Given the description of an element on the screen output the (x, y) to click on. 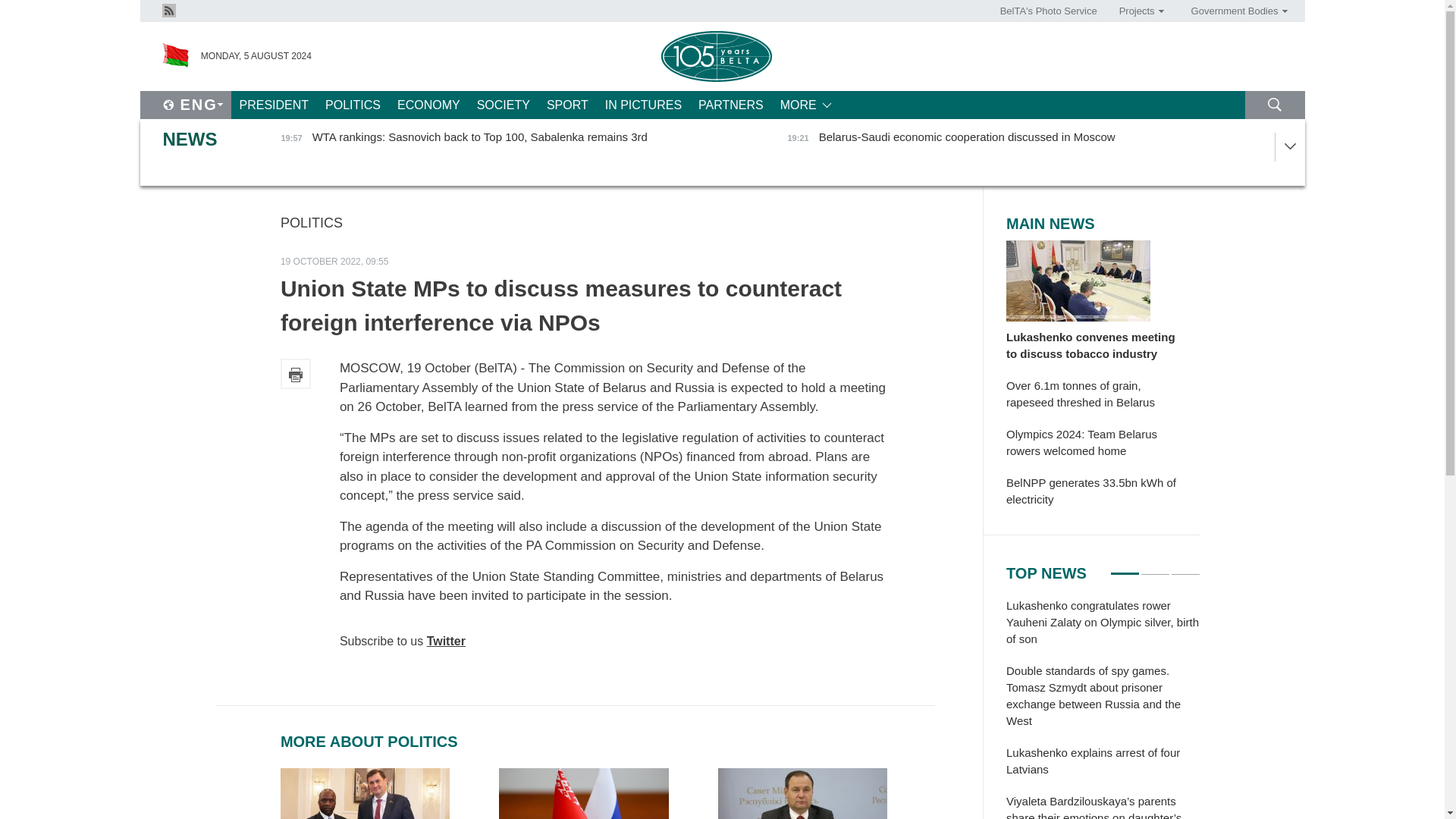
Rss (168, 10)
BelTA's Photo Service (1048, 11)
Rss (167, 9)
Projects (1136, 11)
Government Bodies (1233, 11)
BelTA's Photo Service (1048, 11)
Projects (1136, 11)
Government Bodies (1233, 11)
